Given the description of an element on the screen output the (x, y) to click on. 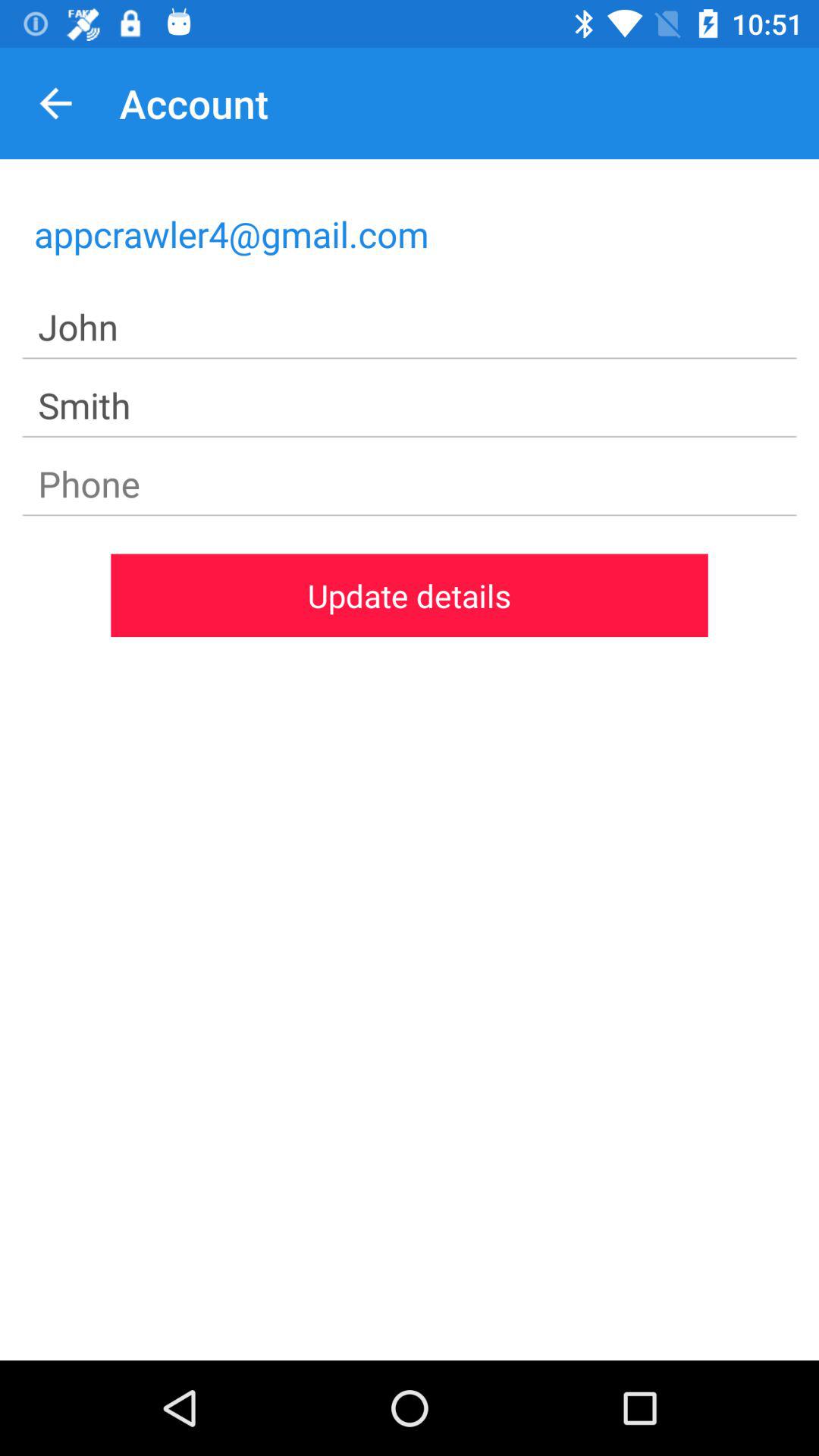
choose item above the appcrawler4@gmail.com item (55, 103)
